Given the description of an element on the screen output the (x, y) to click on. 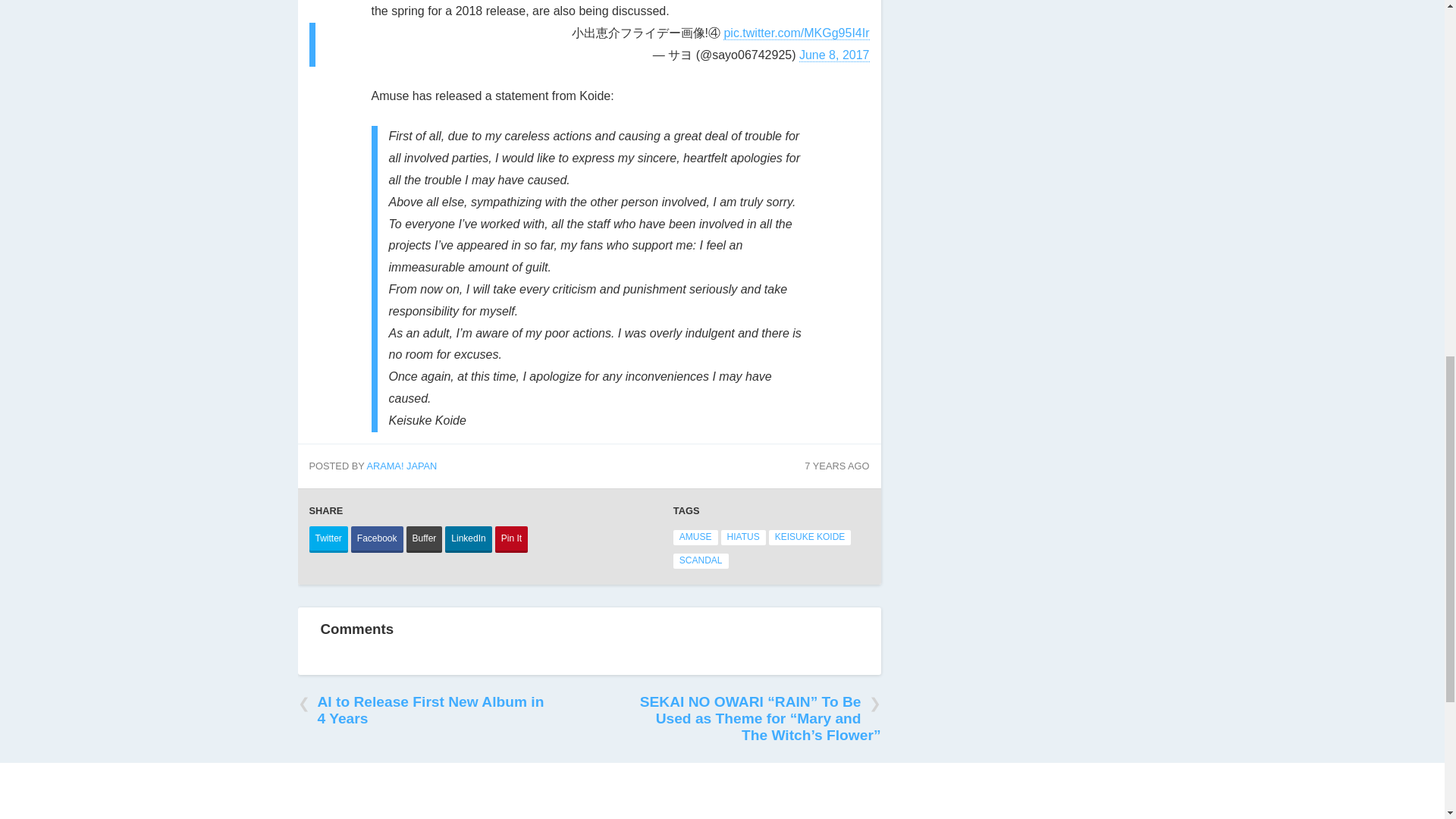
Buffer (424, 539)
Twitter (327, 539)
HIATUS (742, 537)
ARAMA! JAPAN (401, 465)
Posts by ARAMA! JAPAN (401, 465)
AMUSE (694, 537)
June 8, 2017 (834, 55)
SCANDAL (700, 560)
Facebook (376, 539)
AI to Release First New Album in 4 Years (422, 710)
